Given the description of an element on the screen output the (x, y) to click on. 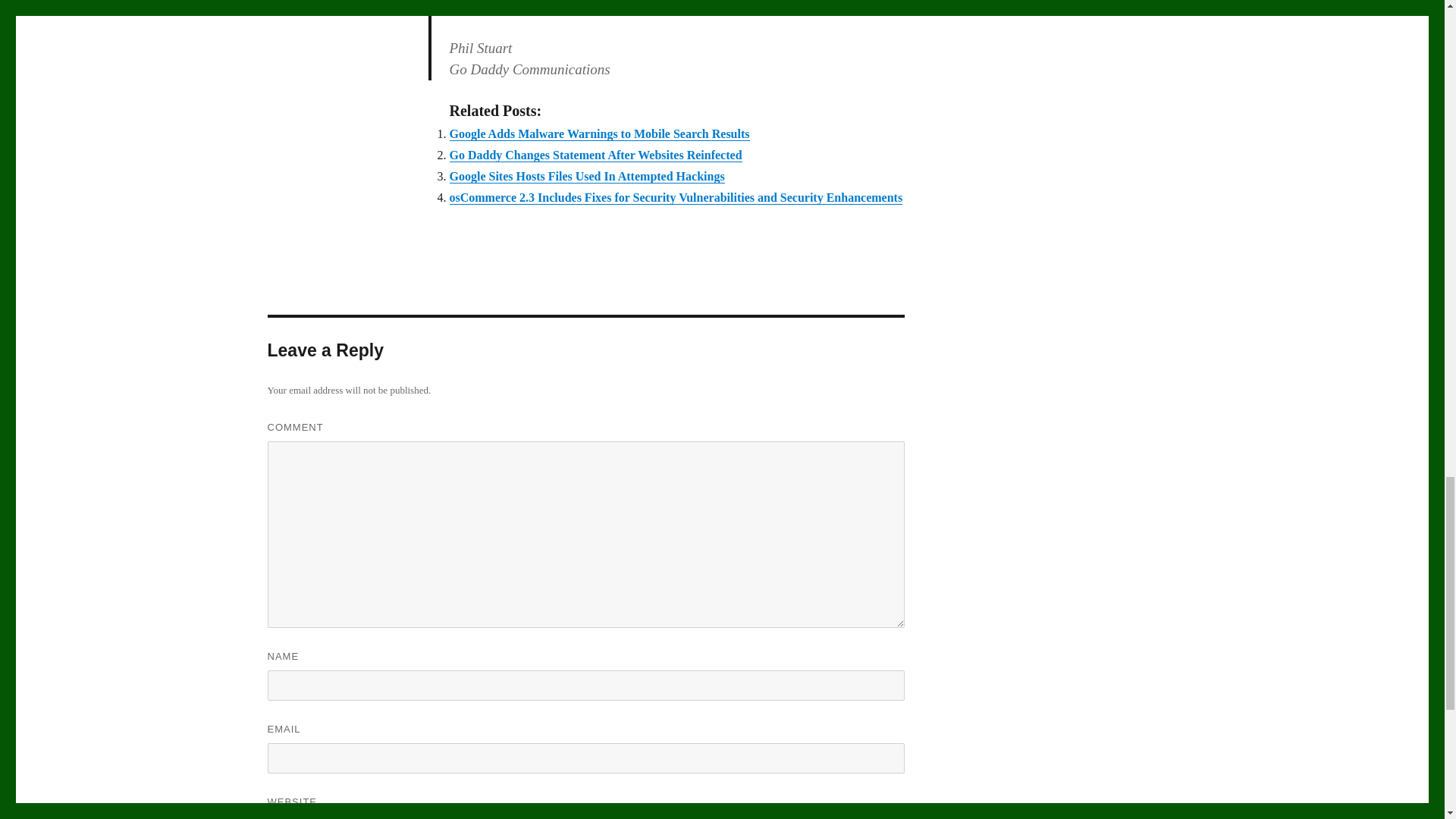
Go Daddy Changes Statement After Websites Reinfected (594, 154)
Google Sites Hosts Files Used In Attempted Hackings (585, 175)
Google Adds Malware Warnings to Mobile Search Results (598, 133)
Google Sites Hosts Files Used In Attempted Hackings (585, 175)
Go Daddy Changes Statement After Websites Reinfected (594, 154)
Google Adds Malware Warnings to Mobile Search Results (598, 133)
